Given the description of an element on the screen output the (x, y) to click on. 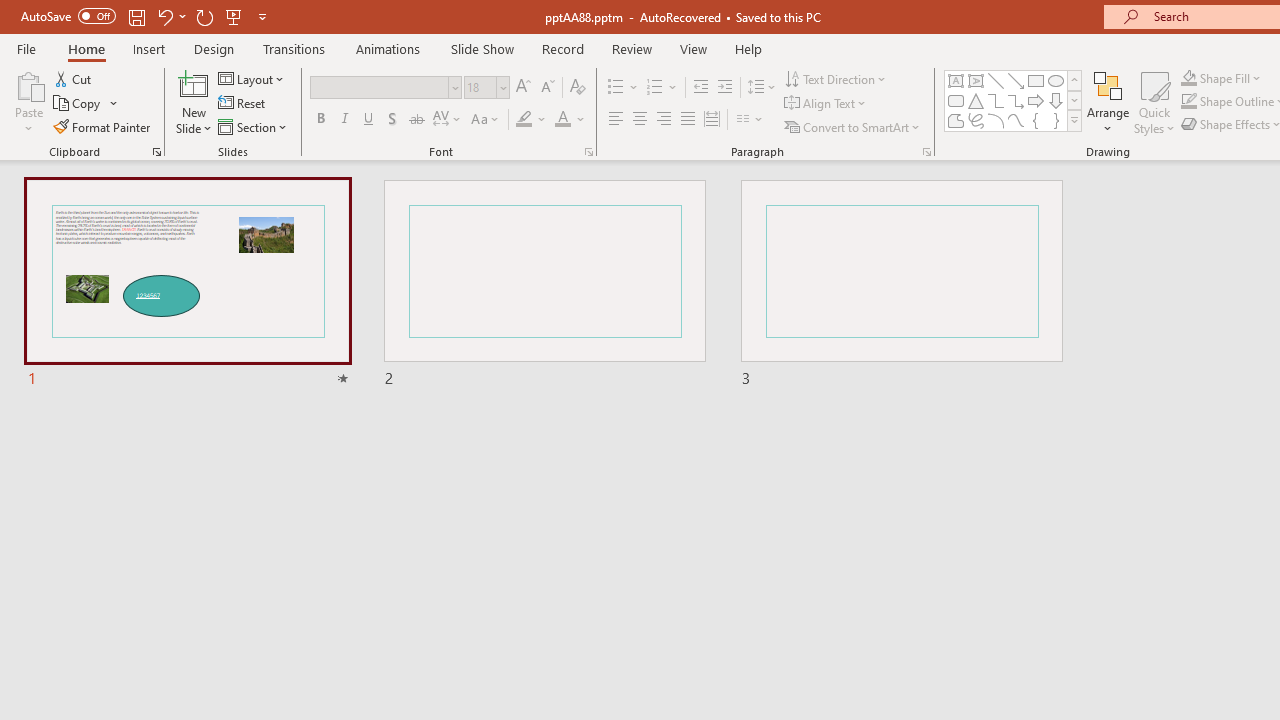
Text Direction (836, 78)
Character Spacing (447, 119)
Cut (73, 78)
Bullets (623, 87)
Undo (170, 15)
Transitions (294, 48)
Underline (369, 119)
System (10, 11)
Review (631, 48)
From Beginning (234, 15)
Arrange (1108, 102)
